Given the description of an element on the screen output the (x, y) to click on. 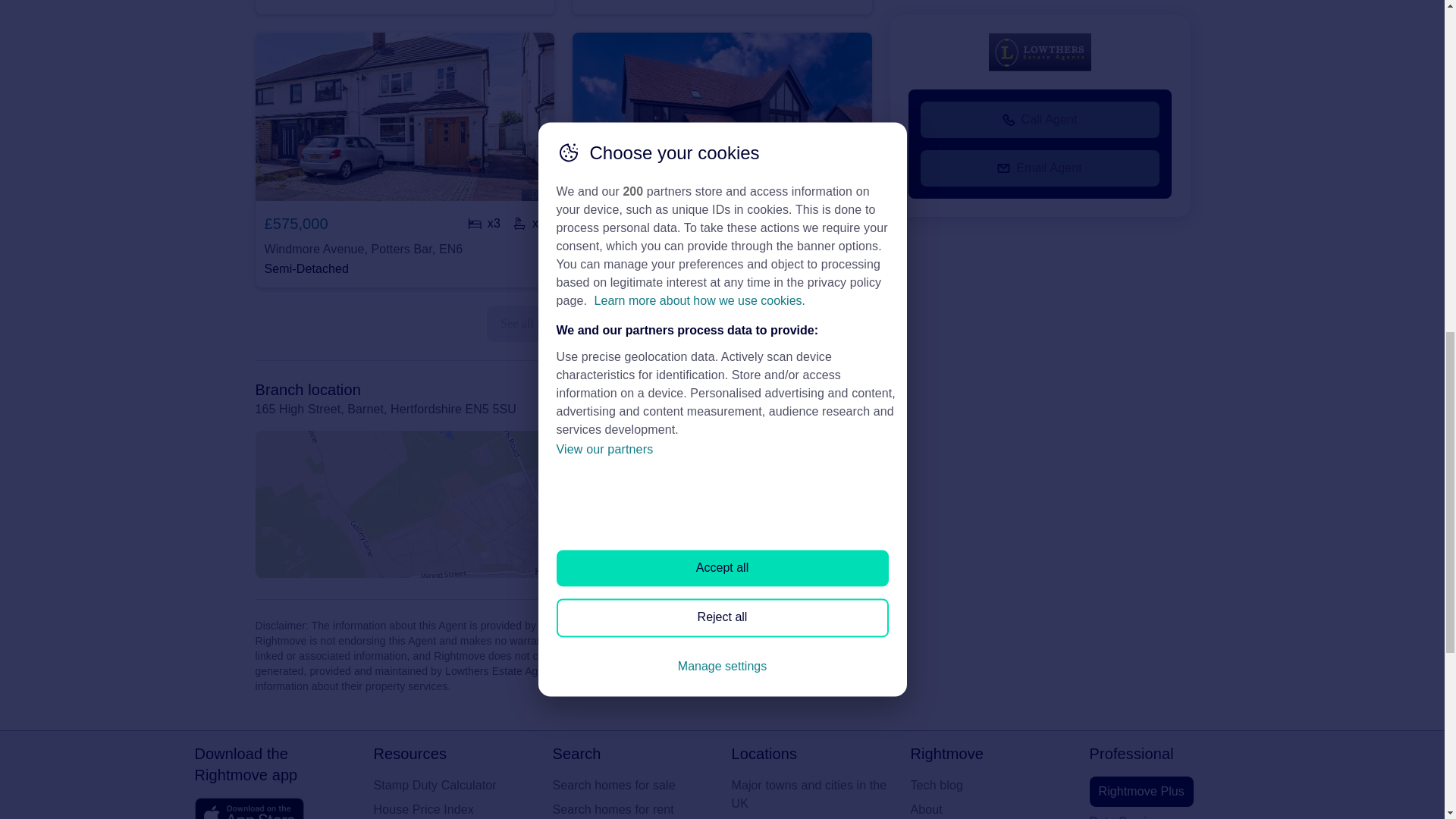
Stamp duty calculator (453, 785)
Search homes for rent (632, 809)
House price index (453, 809)
Search homes for sale (632, 785)
